Given the description of an element on the screen output the (x, y) to click on. 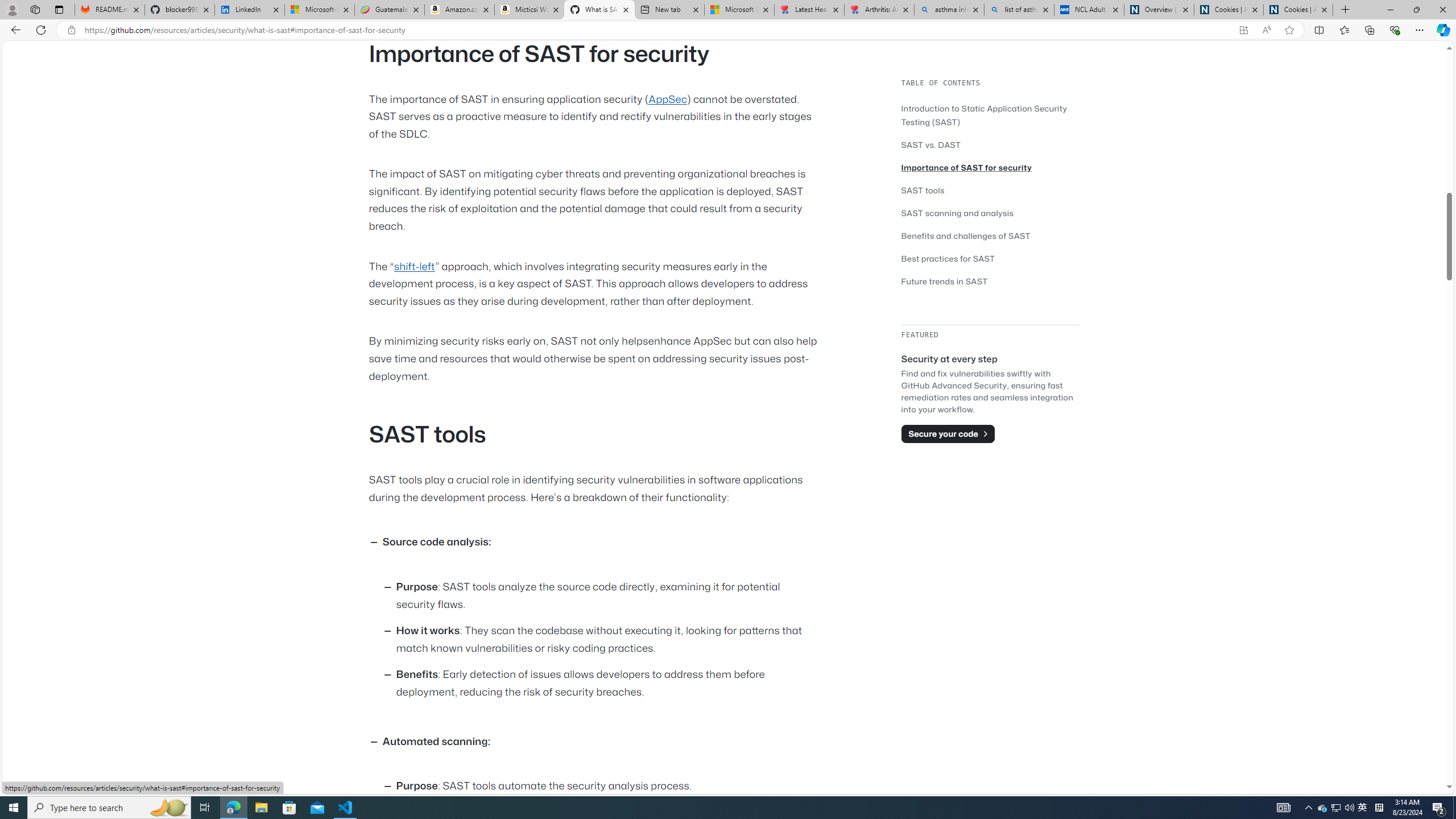
Importance of SAST for security (989, 167)
Importance of SAST for security (966, 166)
Benefits and challenges of SAST (965, 235)
SAST tools (922, 189)
SAST vs. DAST (930, 144)
AppSec (667, 99)
Benefits and challenges of SAST (989, 235)
